Given the description of an element on the screen output the (x, y) to click on. 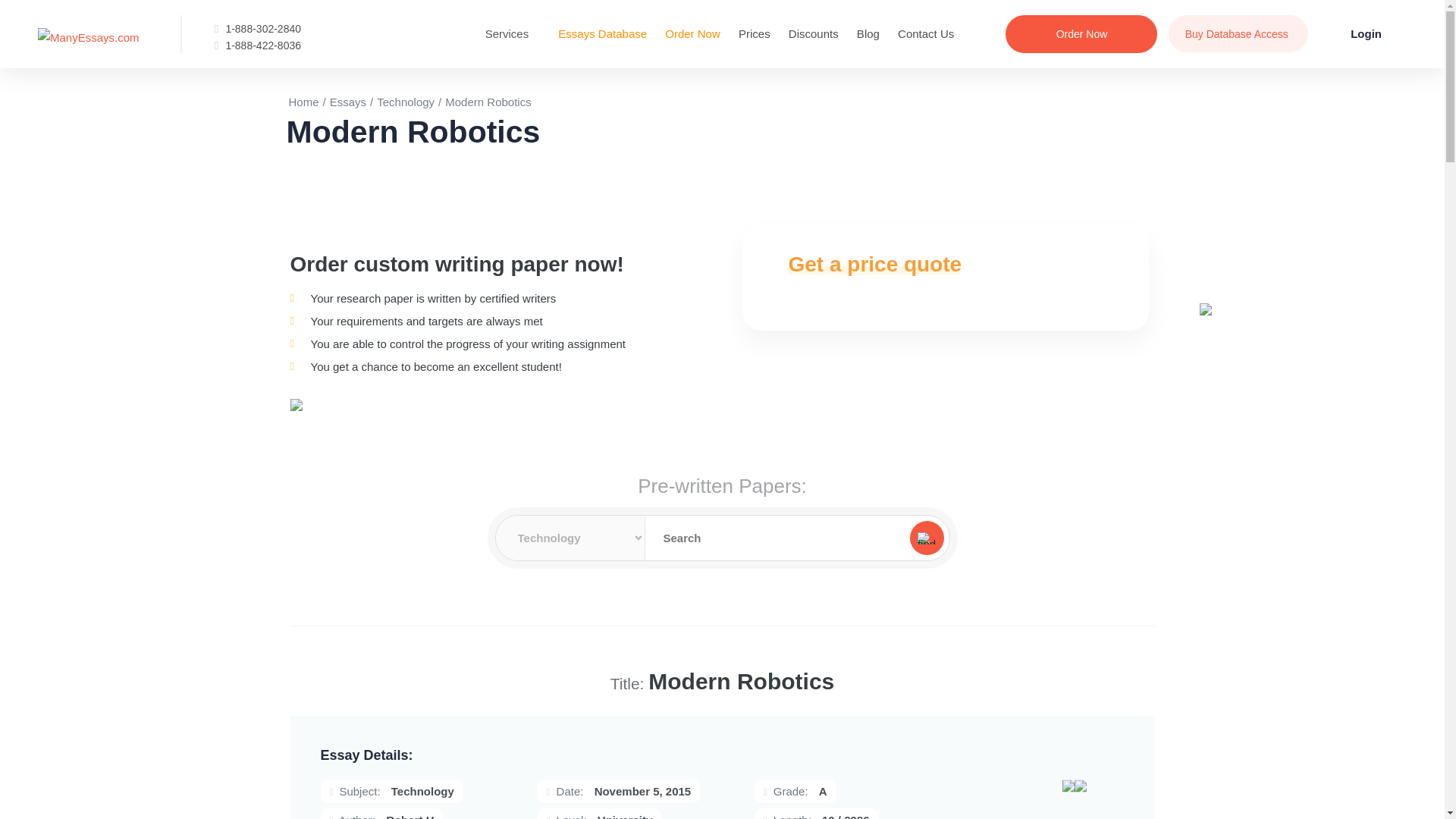
1-888-422-8036 (263, 45)
1-888-302-2840 (263, 28)
ManyEssays.com (88, 36)
